Given the description of an element on the screen output the (x, y) to click on. 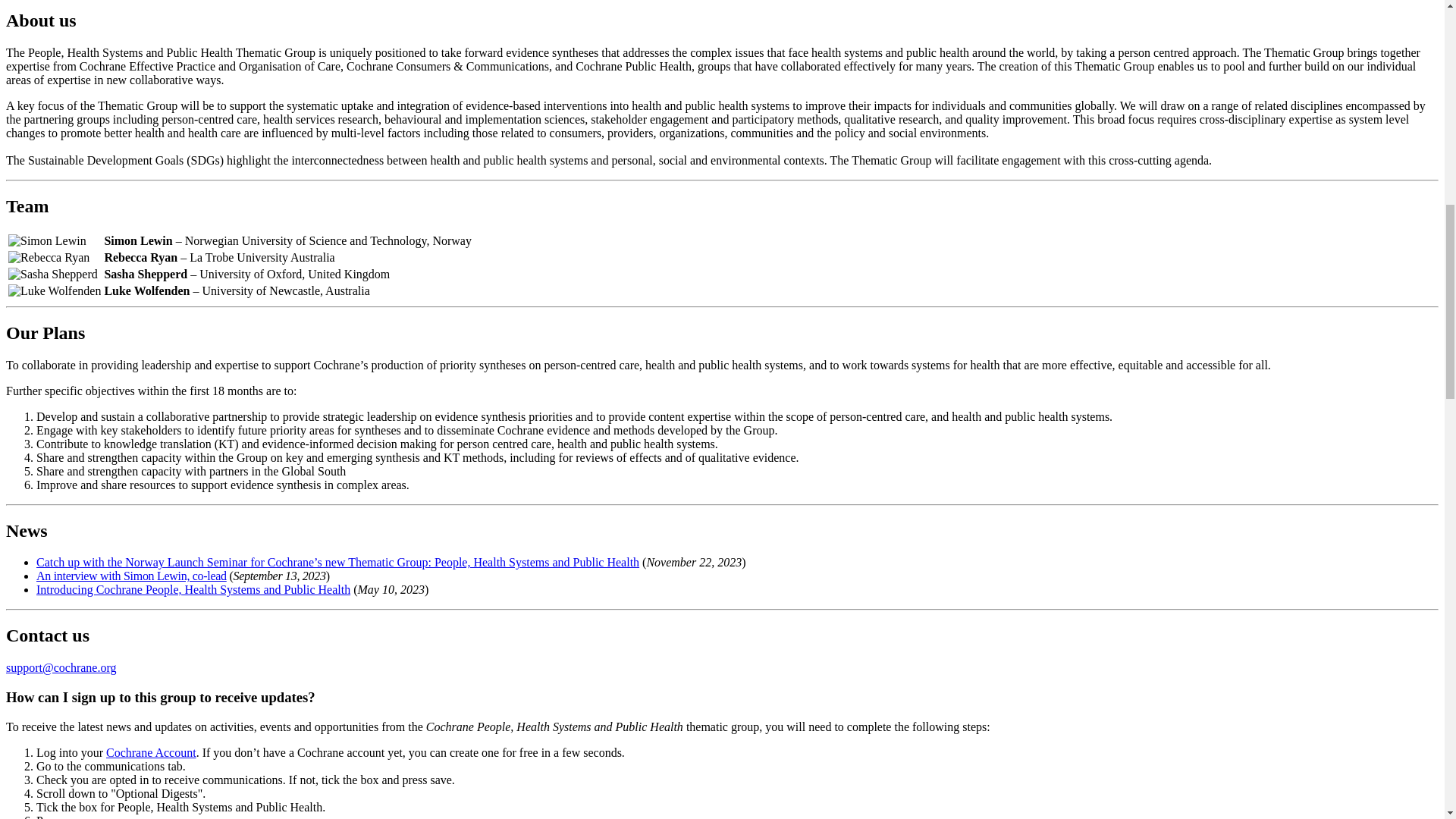
Sasha Shepperd (52, 274)
Luke Wolfenden (54, 291)
Simon Lewin (46, 241)
Rebecca Ryan (48, 257)
